Given the description of an element on the screen output the (x, y) to click on. 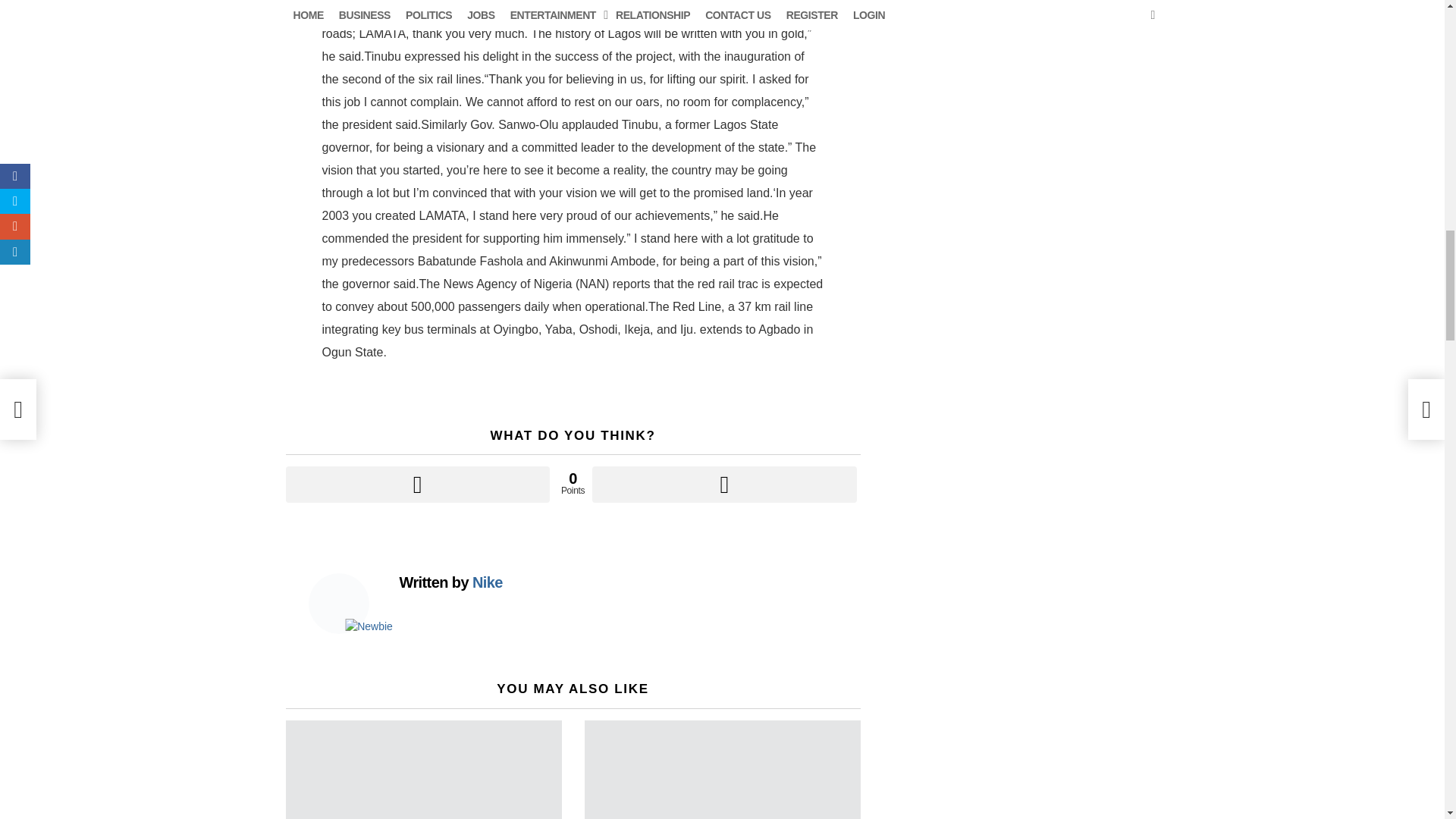
President Tinubu appoints Obafunwa new NIMR boss (422, 769)
Nike (486, 582)
Upvote (416, 484)
Downvote (724, 484)
Downvote (724, 484)
Upvote (416, 484)
Tinubu appoints new Head of Service of the Federation (721, 769)
